Given the description of an element on the screen output the (x, y) to click on. 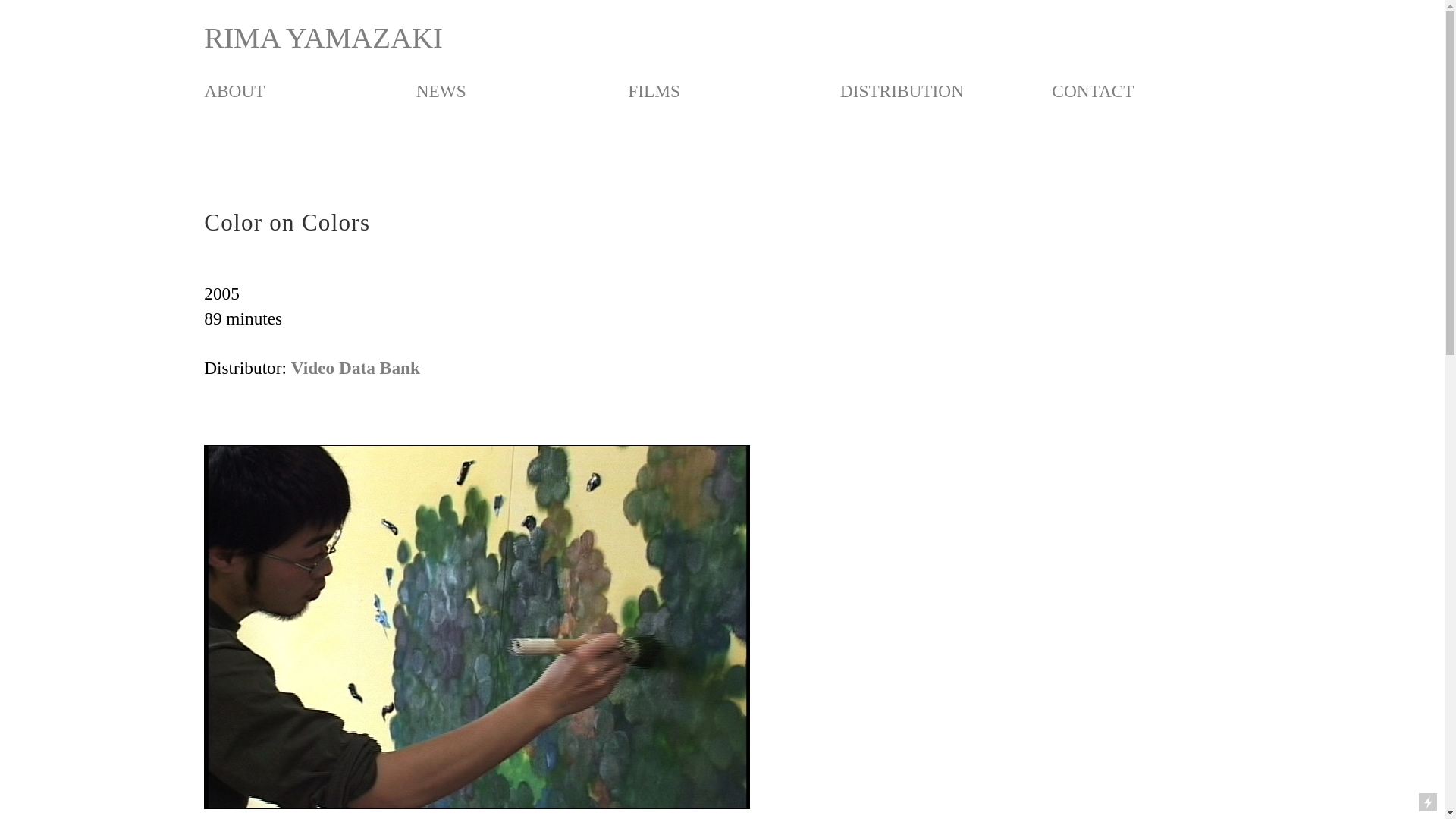
FILMS (653, 91)
ABOUT (233, 91)
DISTRIBUTION (901, 91)
CONTACT (1092, 91)
RIMA YAMAZAKI (322, 38)
NEWS (440, 91)
Video Data Bank (355, 368)
